Given the description of an element on the screen output the (x, y) to click on. 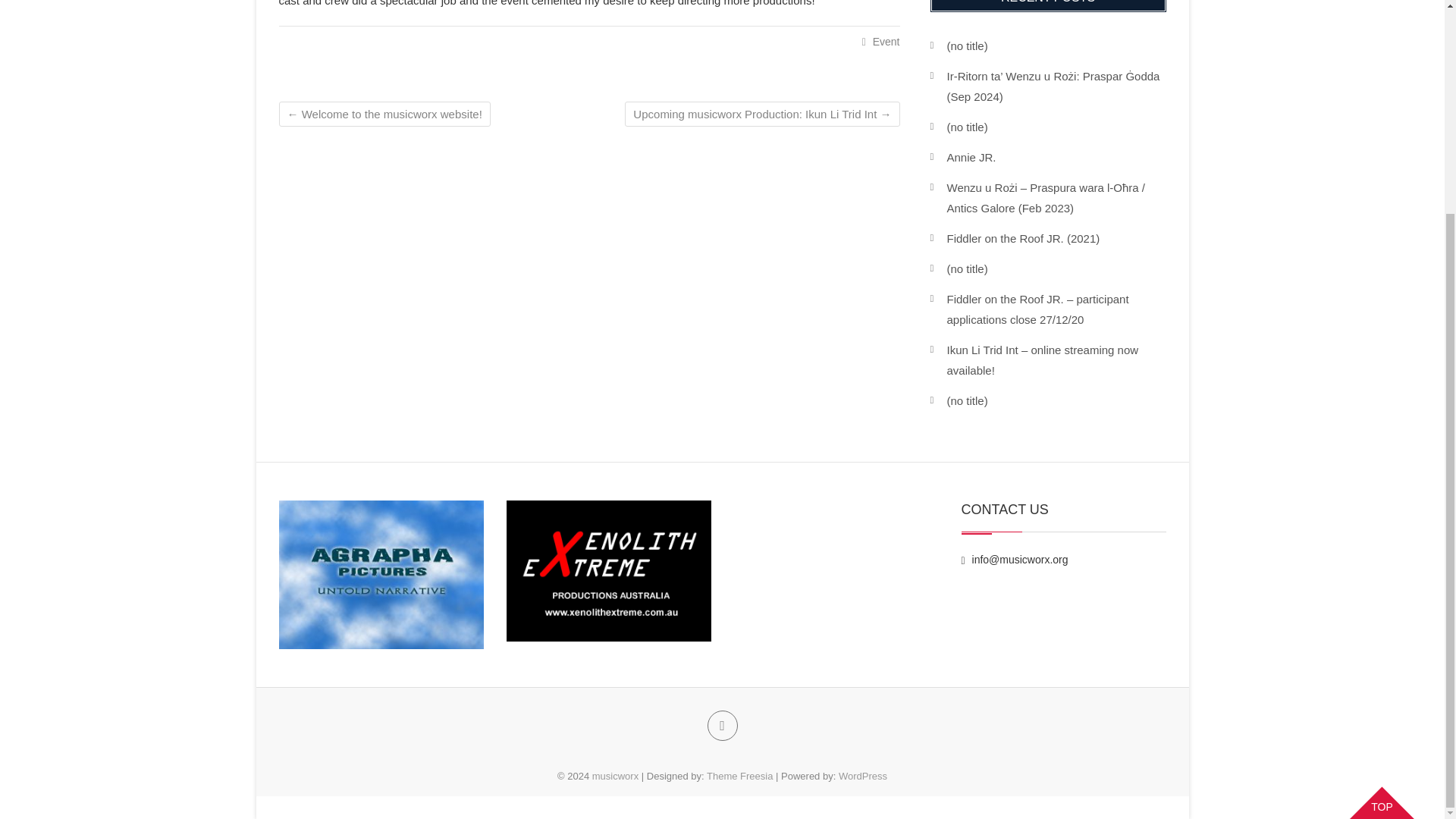
Theme Freesia (739, 776)
musicworx (615, 776)
TOP (1381, 520)
musicworx (615, 776)
Event (885, 41)
Facebook (721, 725)
Annie JR. (970, 156)
Theme Freesia (739, 776)
WordPress (862, 776)
WordPress (862, 776)
